Given the description of an element on the screen output the (x, y) to click on. 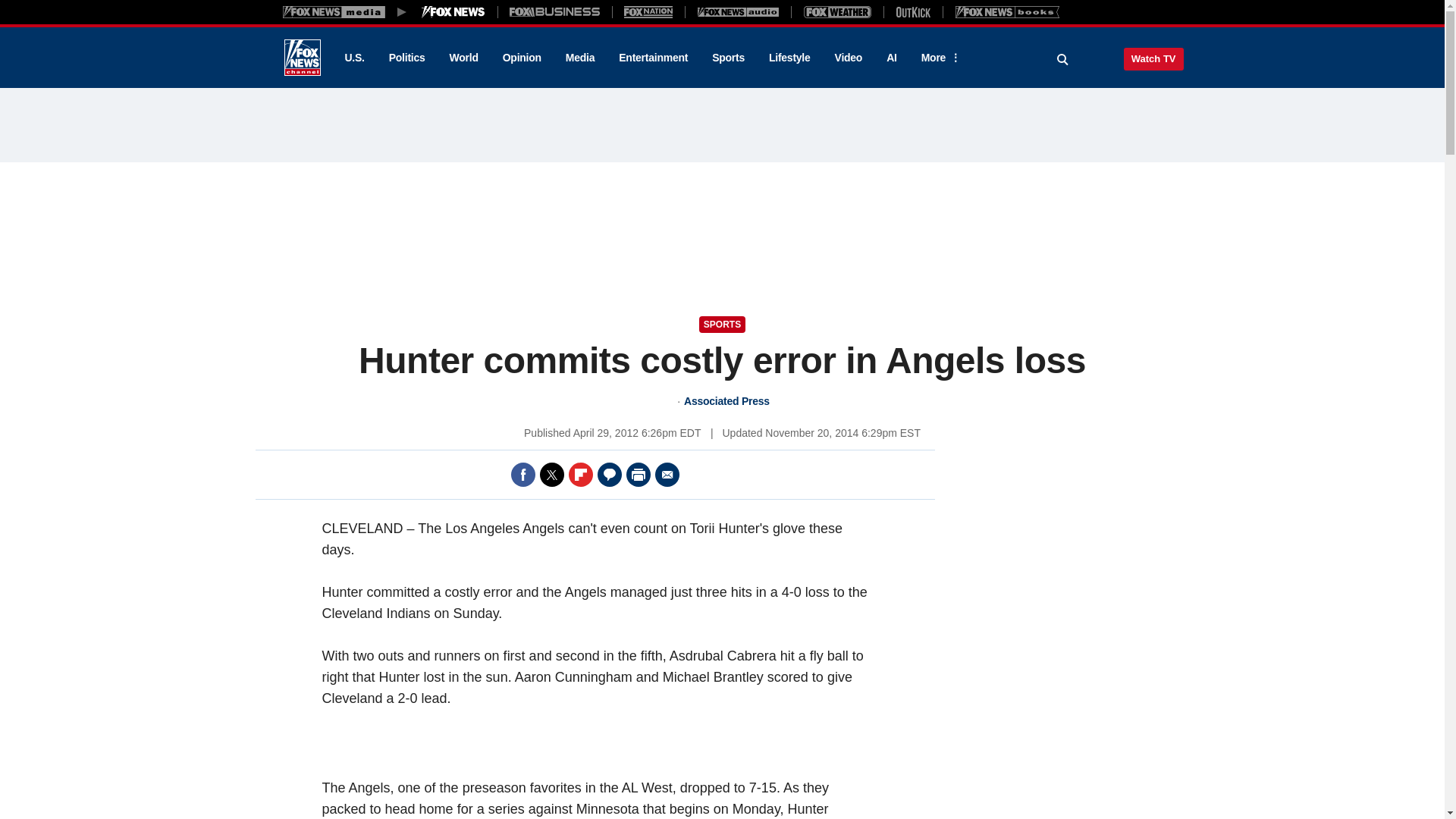
Opinion (521, 57)
Books (1007, 11)
Entertainment (653, 57)
Lifestyle (789, 57)
Fox News Media (453, 11)
World (464, 57)
Media (580, 57)
U.S. (353, 57)
Video (848, 57)
Fox Business (554, 11)
